Given the description of an element on the screen output the (x, y) to click on. 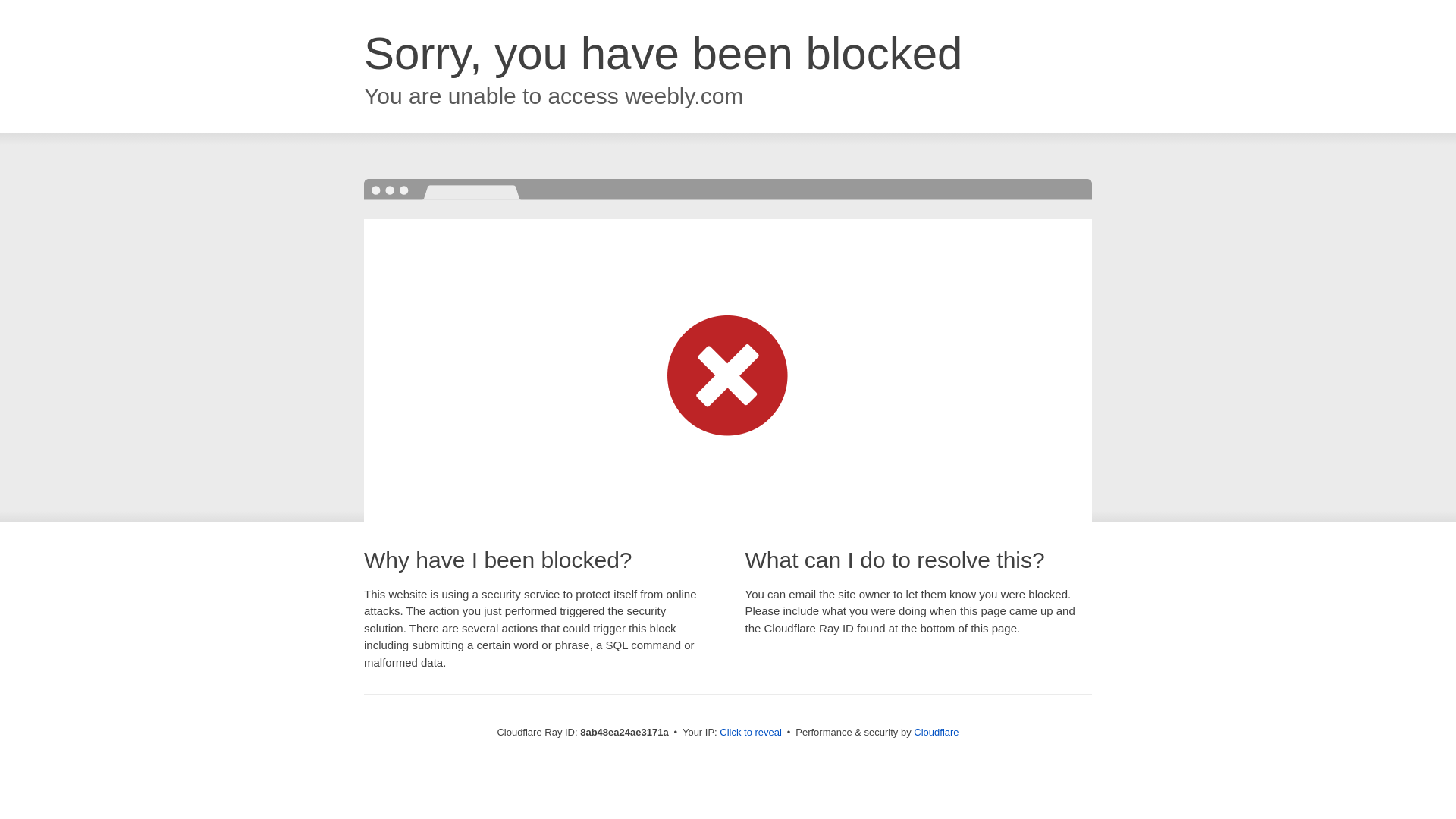
Click to reveal (750, 732)
Cloudflare (936, 731)
